Given the description of an element on the screen output the (x, y) to click on. 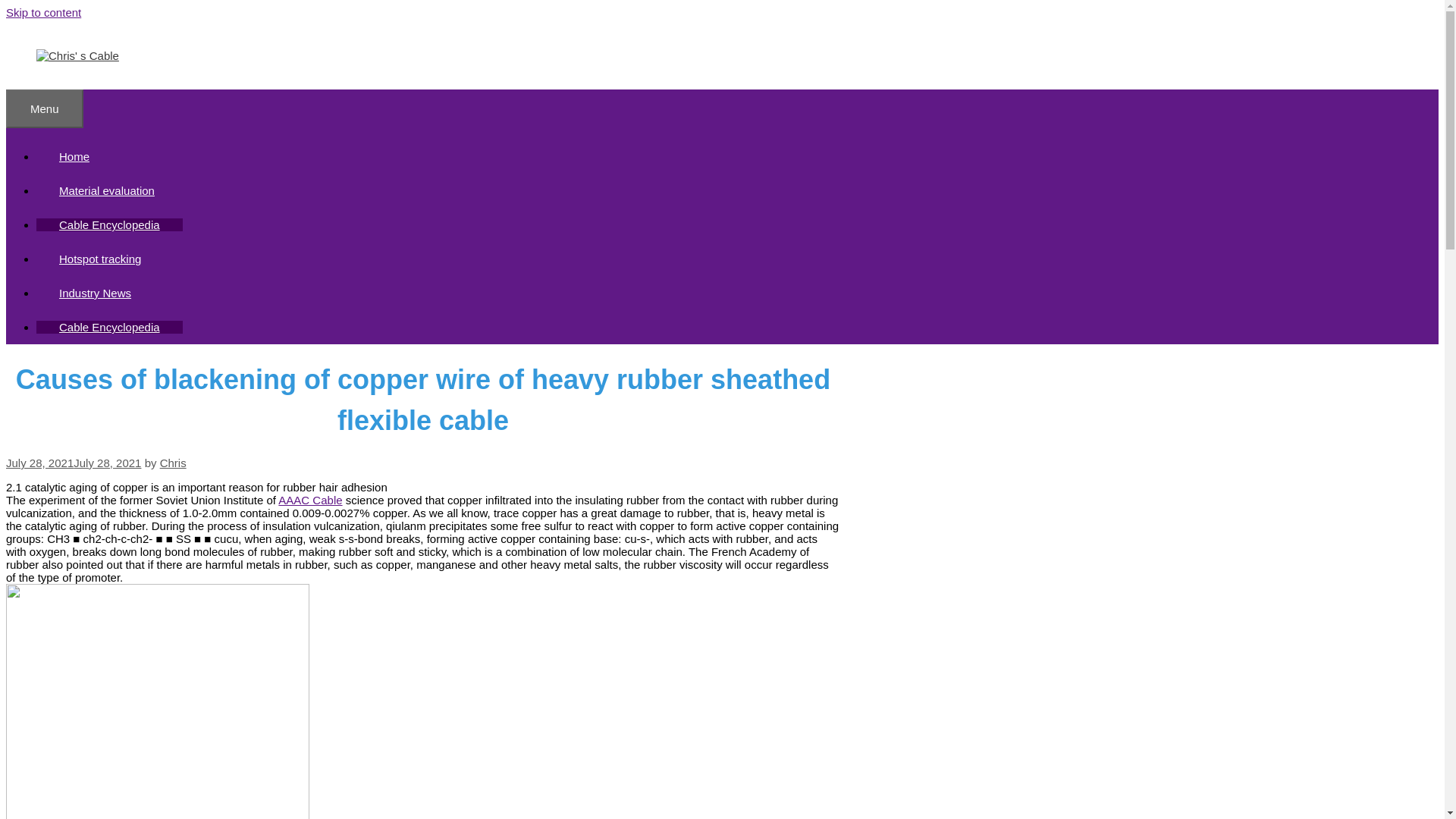
Hotspot tracking (99, 258)
Industry News (95, 292)
Skip to content (43, 11)
Skip to content (43, 11)
July 28, 2021July 28, 2021 (73, 462)
View all posts by Chris (173, 462)
Chris (173, 462)
Cable Encyclopedia (109, 327)
Cable Encyclopedia (109, 224)
Home (74, 155)
Menu (43, 108)
Material evaluation (106, 190)
Chris' s Cable (77, 55)
7:25 am (73, 462)
AAAC Cable (310, 499)
